Given the description of an element on the screen output the (x, y) to click on. 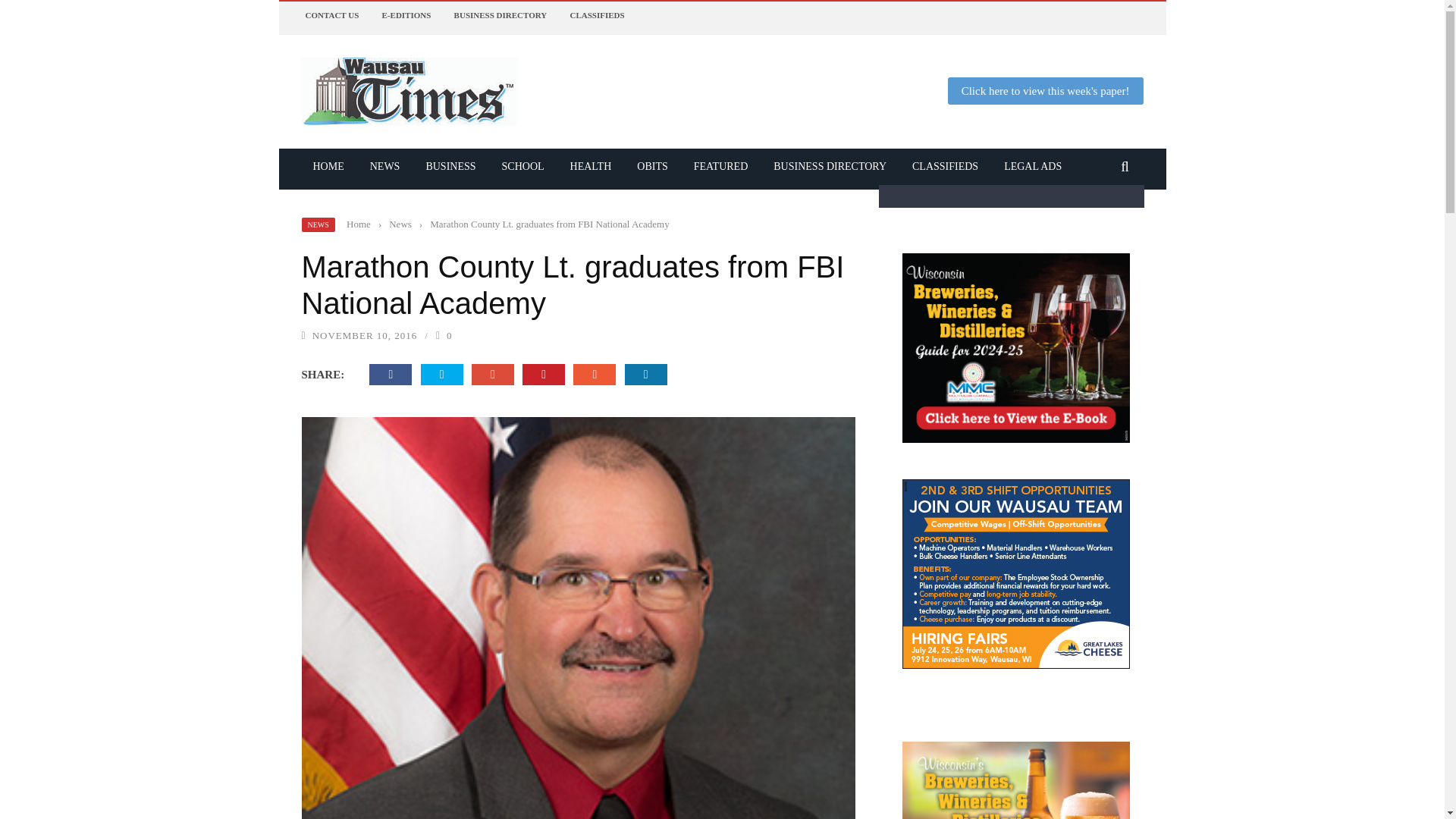
NEWS (385, 165)
BUSINESS DIRECTORY (500, 14)
FEATURED (721, 165)
HEALTH (591, 165)
BUSINESS (449, 165)
HOME (328, 165)
SCHOOL (523, 165)
BUSINESS DIRECTORY (829, 165)
E-EDITIONS (405, 14)
CLASSIFIEDS (596, 14)
OBITS (652, 165)
CONTACT US (331, 14)
NEWS (317, 223)
LEGAL ADS (1032, 165)
Click here to view this week's paper! (1044, 90)
